Given the description of an element on the screen output the (x, y) to click on. 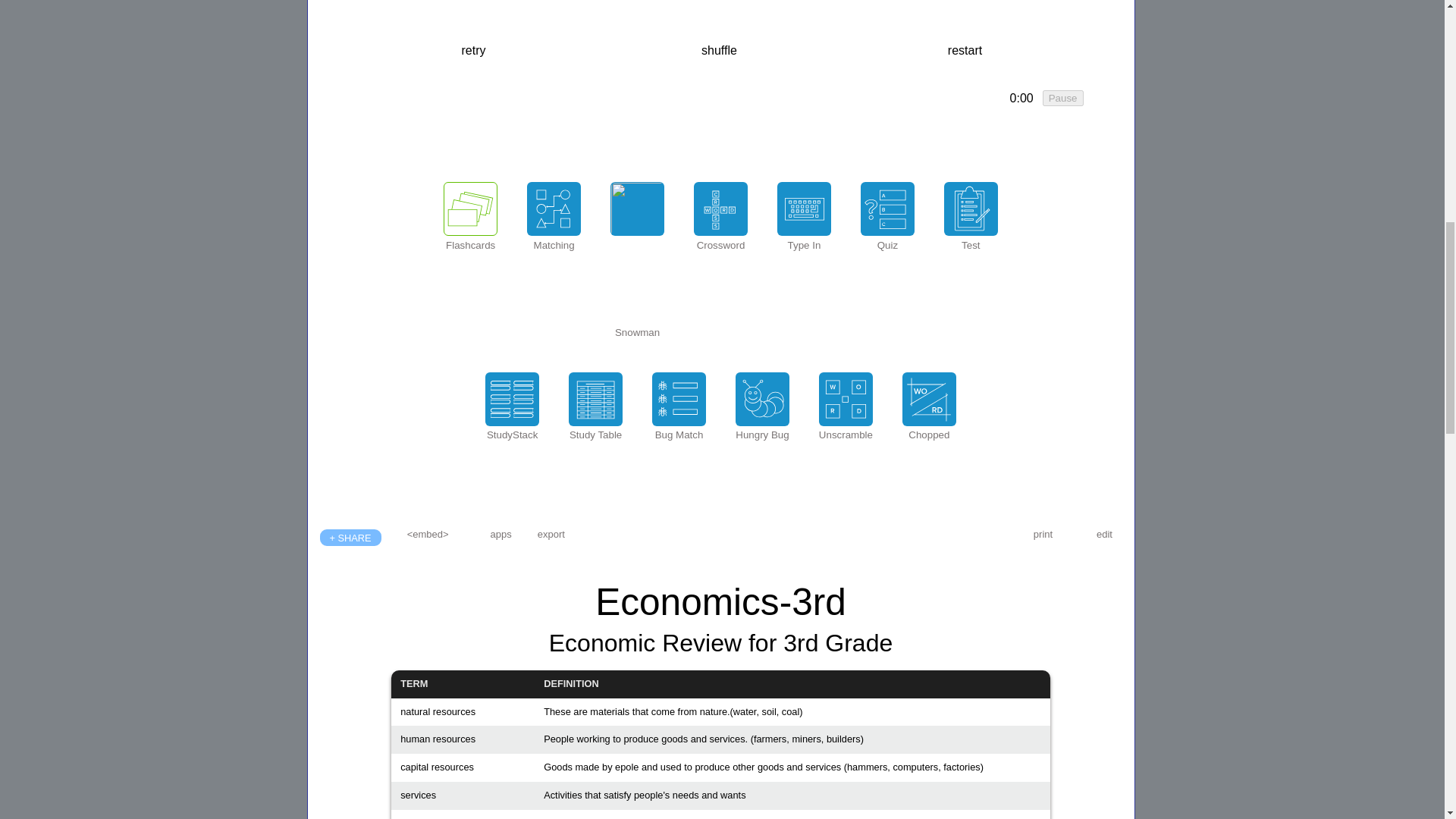
click to hide (1021, 98)
Shuffle the cards in the 'remaining' box (718, 50)
apps (501, 533)
export (550, 533)
Move all cards back to the 'remaining' box (964, 50)
Pause (1062, 98)
